Given the description of an element on the screen output the (x, y) to click on. 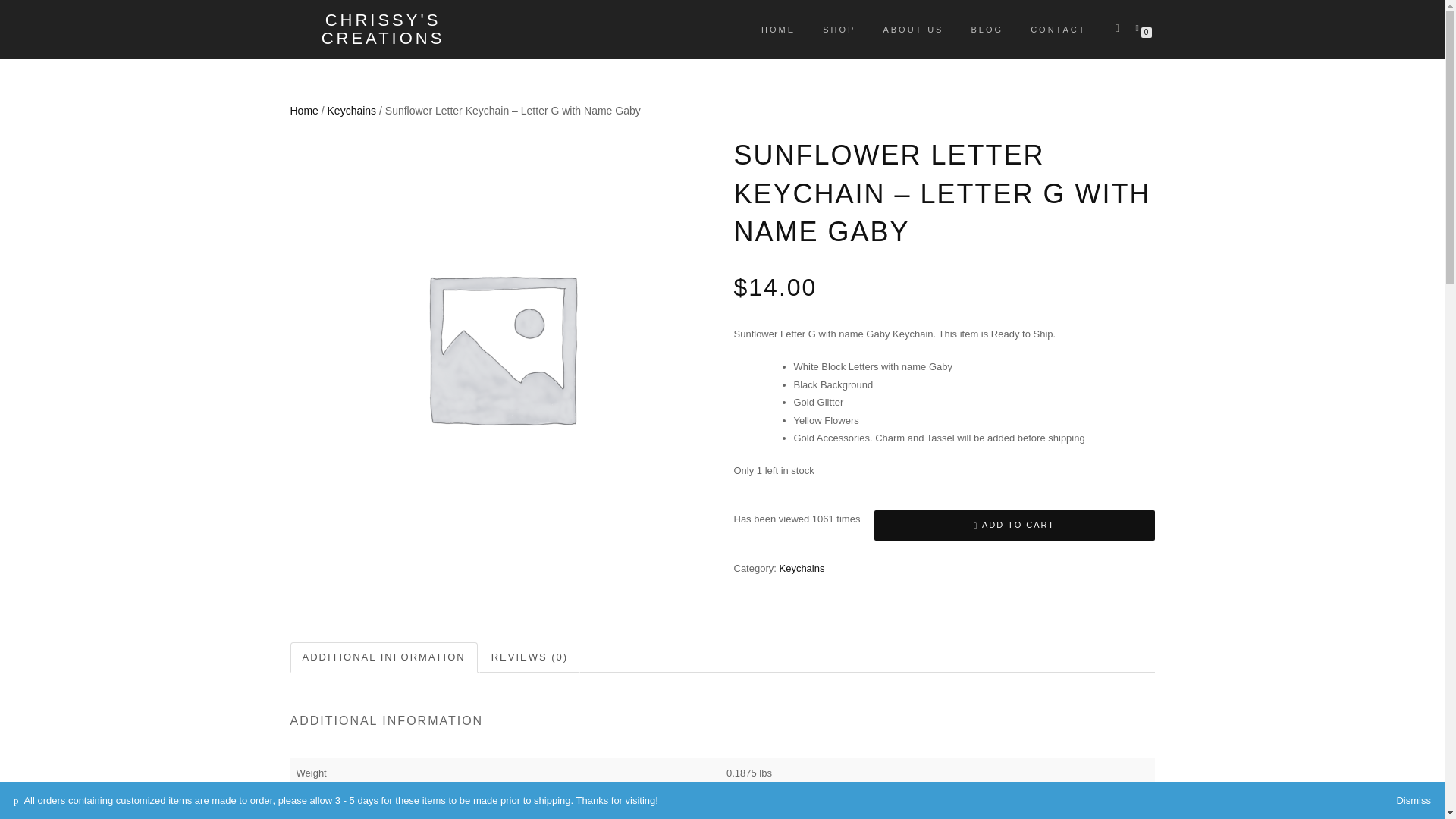
Home (303, 110)
SHOP (838, 29)
HOME (777, 29)
CONTACT (1058, 29)
View your shopping cart (1139, 26)
Chrissy's Creations (382, 29)
0 (1139, 26)
CHRISSY'S CREATIONS (382, 29)
ADDITIONAL INFORMATION (383, 657)
Keychains (801, 568)
